Given the description of an element on the screen output the (x, y) to click on. 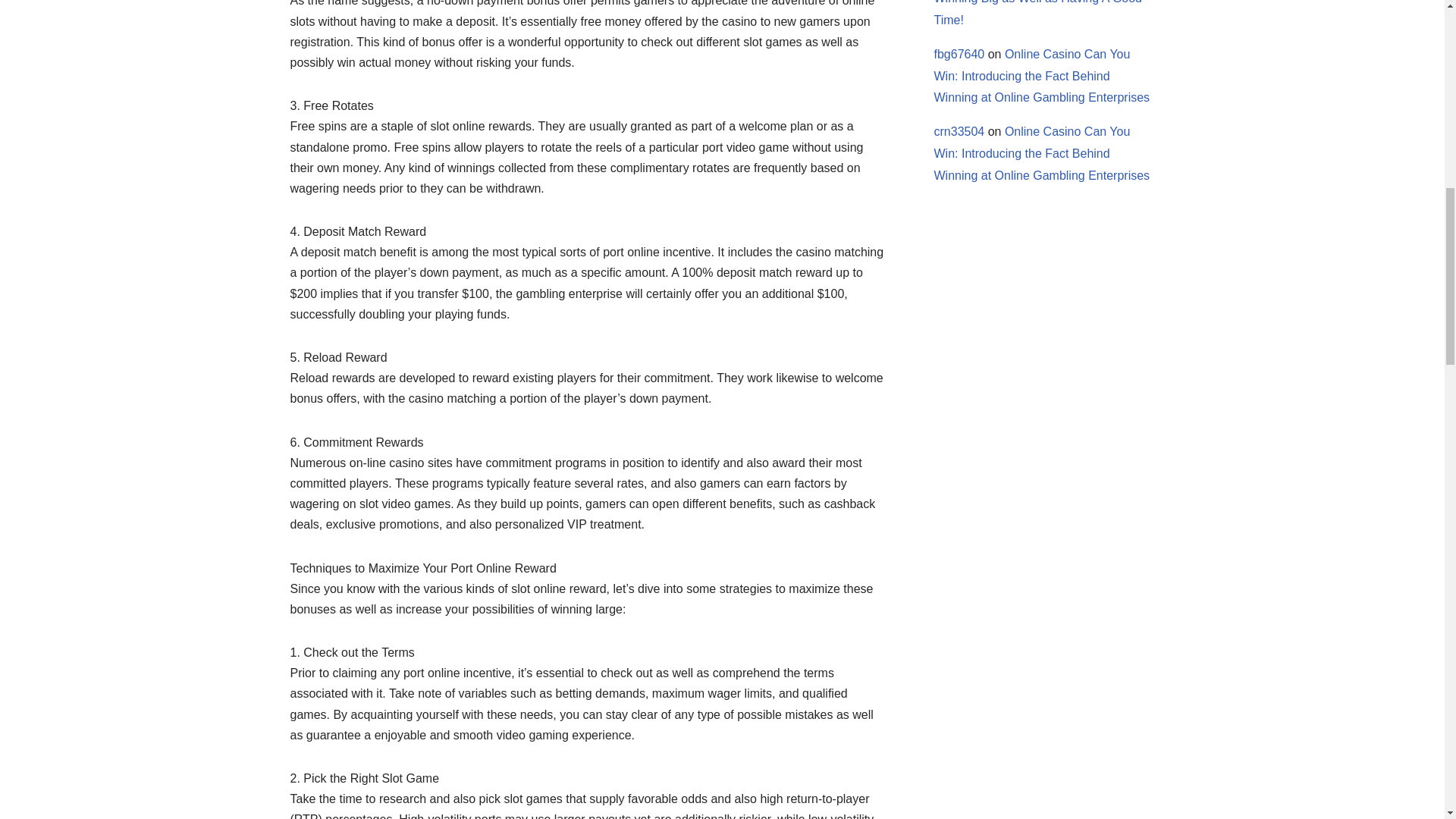
crn33504 (959, 131)
fbg67640 (959, 53)
